Given the description of an element on the screen output the (x, y) to click on. 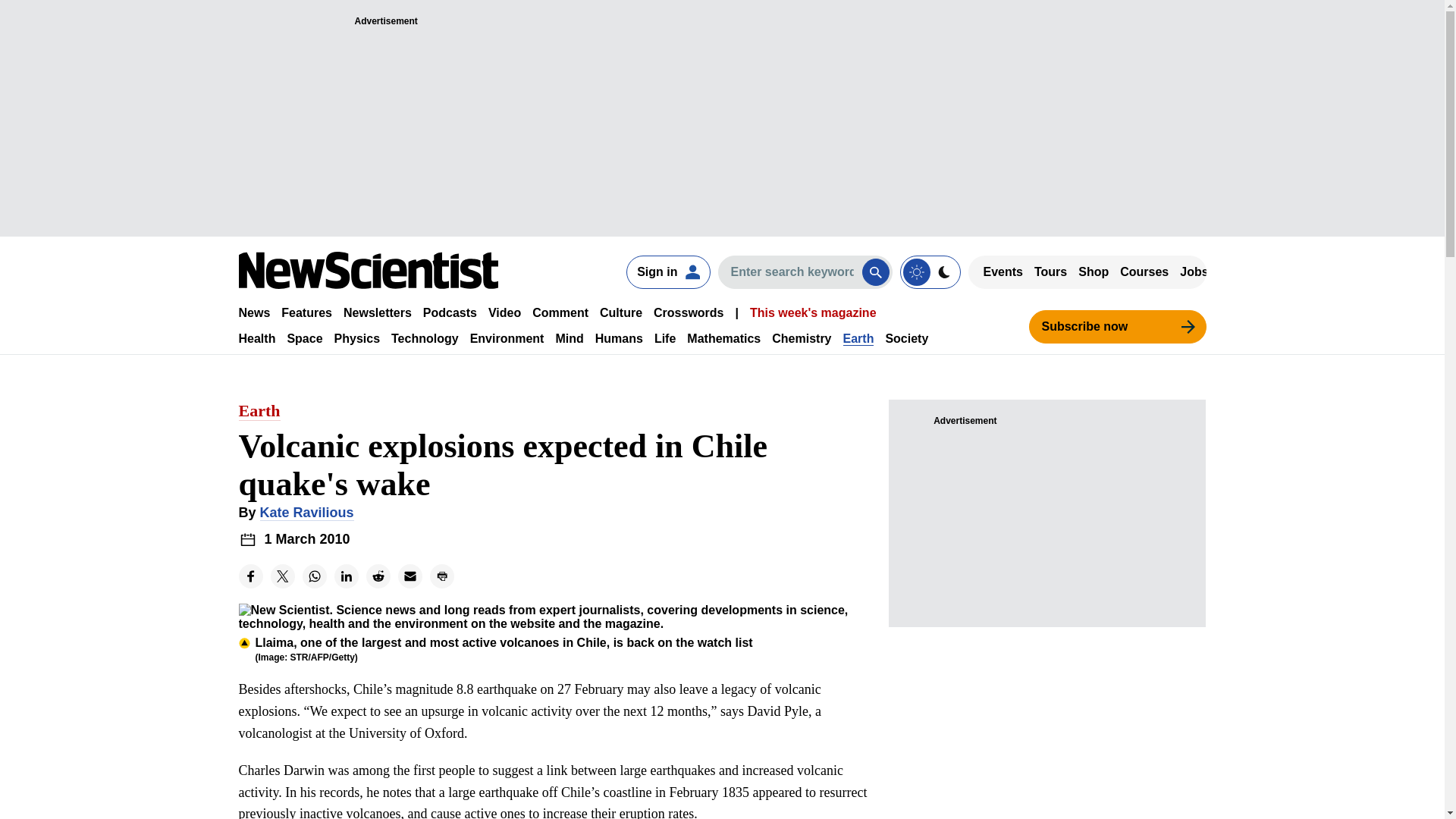
Calendar icon (247, 538)
Jobs (1193, 272)
on (929, 272)
Events (1002, 272)
Health (256, 338)
Video (504, 313)
Humans (619, 338)
Technology (424, 338)
Mind (568, 338)
Physics (357, 338)
Sign In page link (668, 272)
Tours (1050, 272)
Mathematics (723, 338)
Features (306, 313)
Newsletters (377, 313)
